Given the description of an element on the screen output the (x, y) to click on. 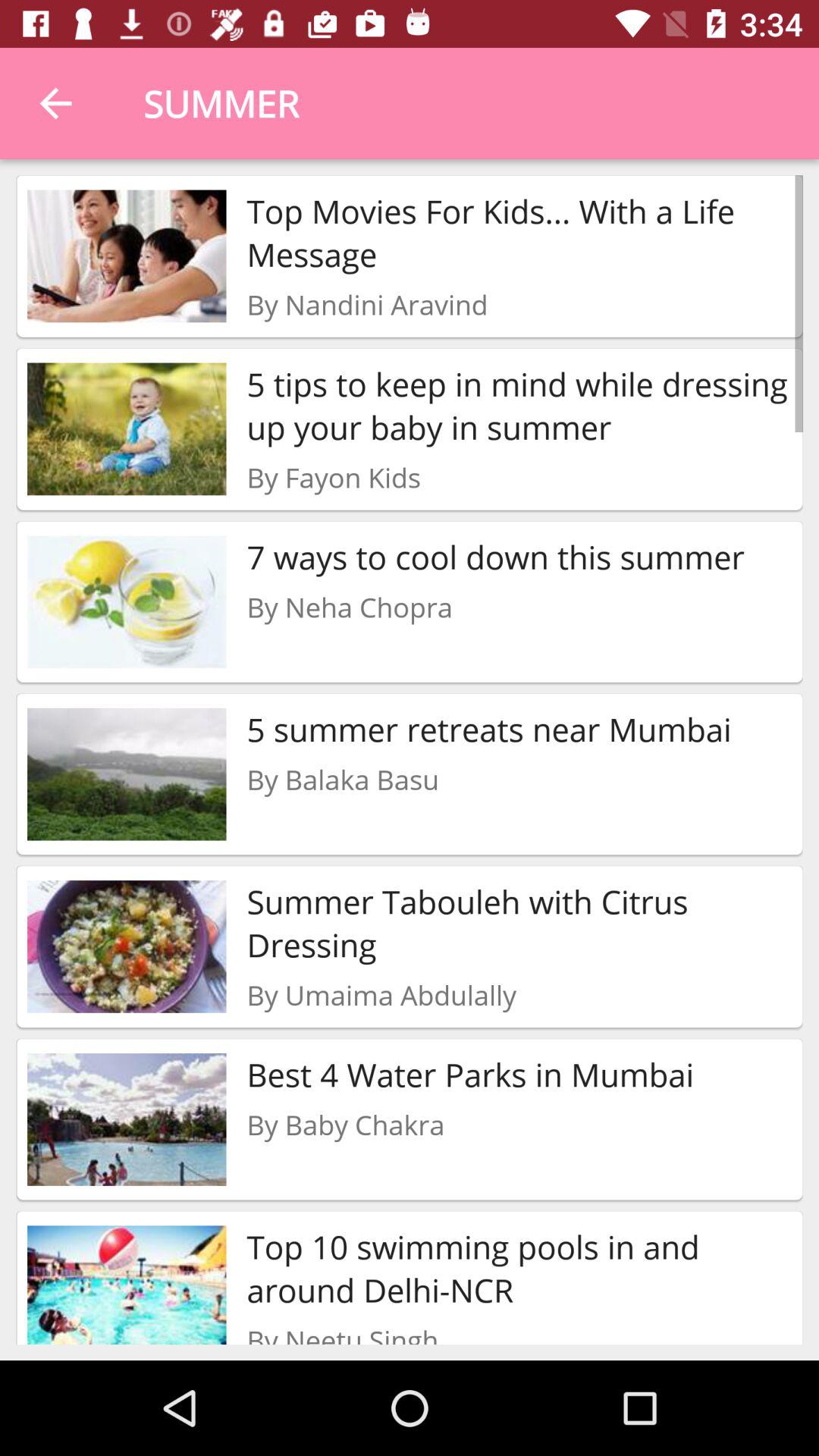
tap the icon above the 5 tips to item (366, 304)
